Given the description of an element on the screen output the (x, y) to click on. 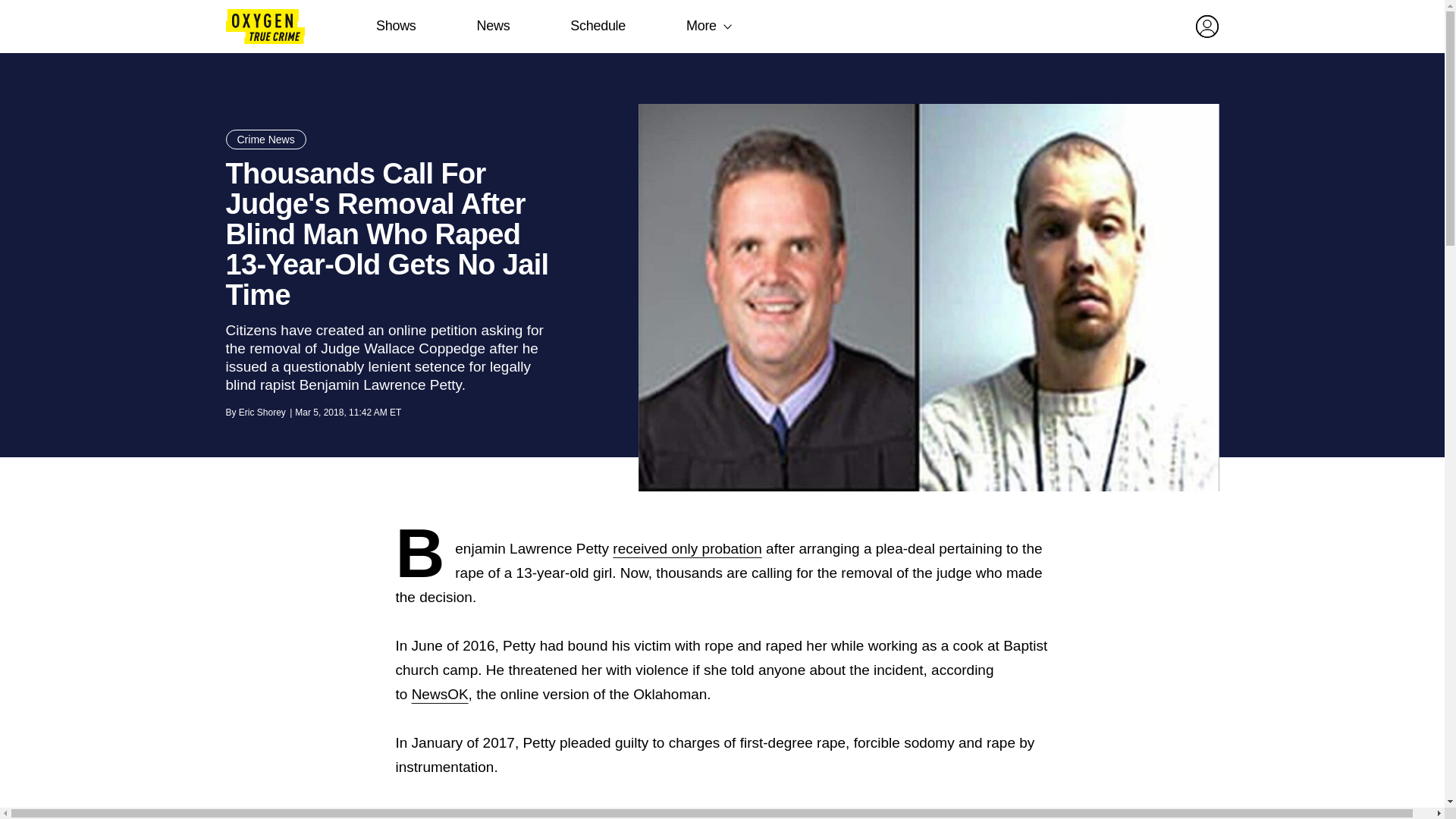
Shows (395, 26)
Crime News (265, 139)
News (492, 26)
NewsOK (440, 693)
received only probation (686, 548)
Schedule (598, 26)
Eric Shorey (261, 412)
More (700, 26)
